Given the description of an element on the screen output the (x, y) to click on. 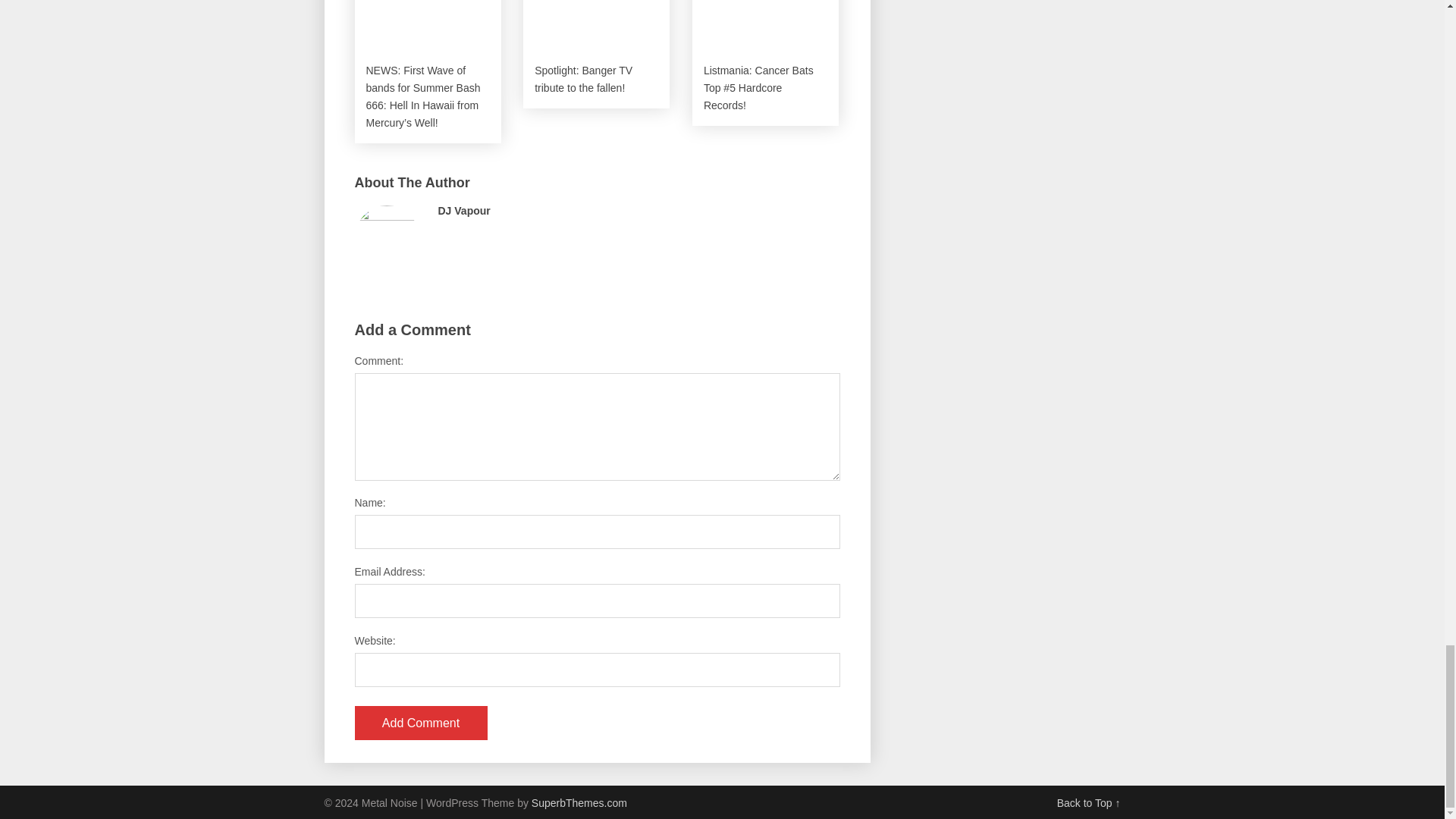
Spotlight: Banger TV tribute to the fallen! (595, 54)
Add Comment (421, 722)
Add Comment (421, 722)
Spotlight: Banger TV tribute to the fallen! (595, 54)
